Given the description of an element on the screen output the (x, y) to click on. 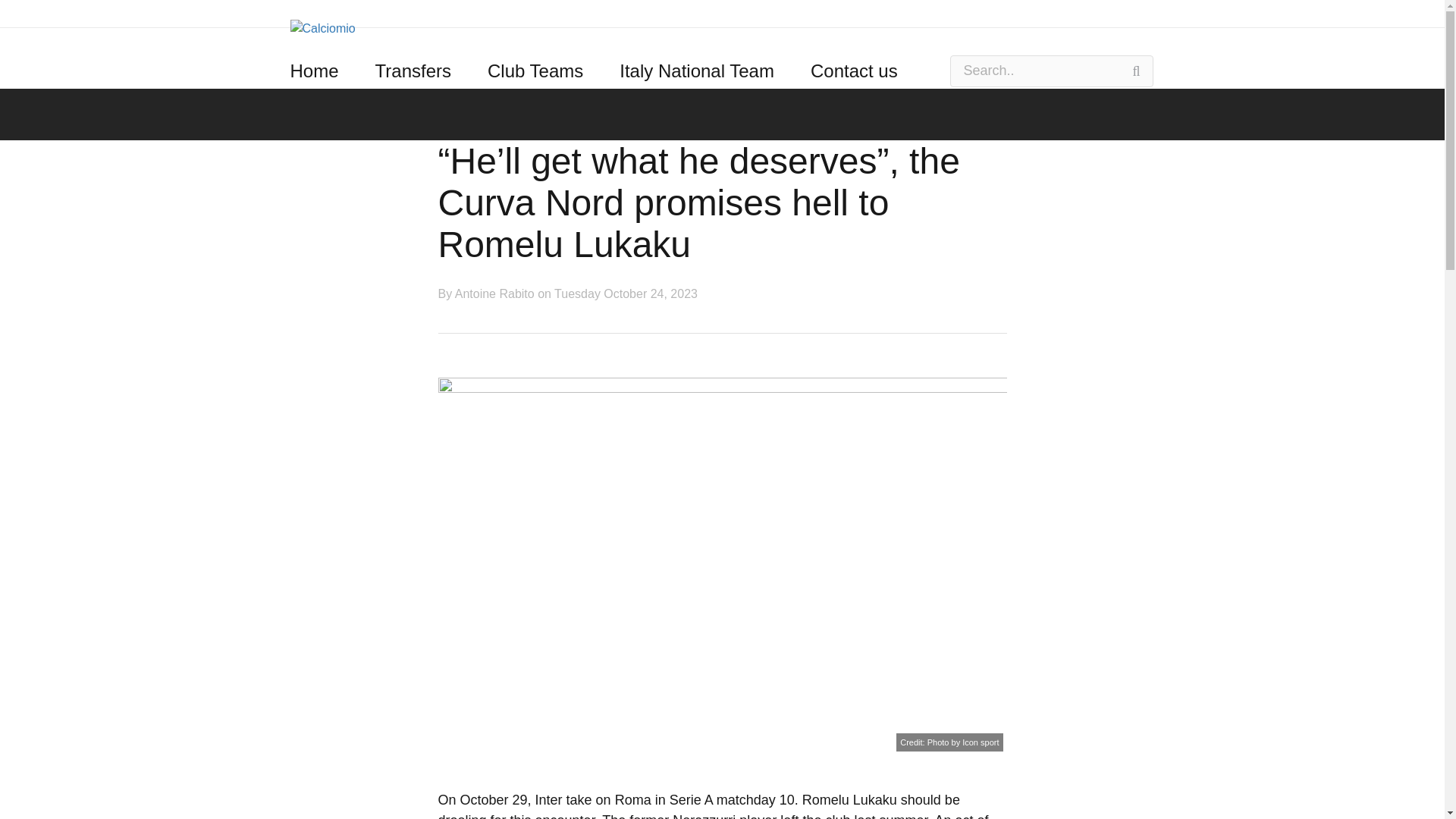
Contact us (854, 70)
Italy National Team (697, 70)
Accueil (322, 27)
Transfers (413, 70)
Club Teams (535, 70)
